Given the description of an element on the screen output the (x, y) to click on. 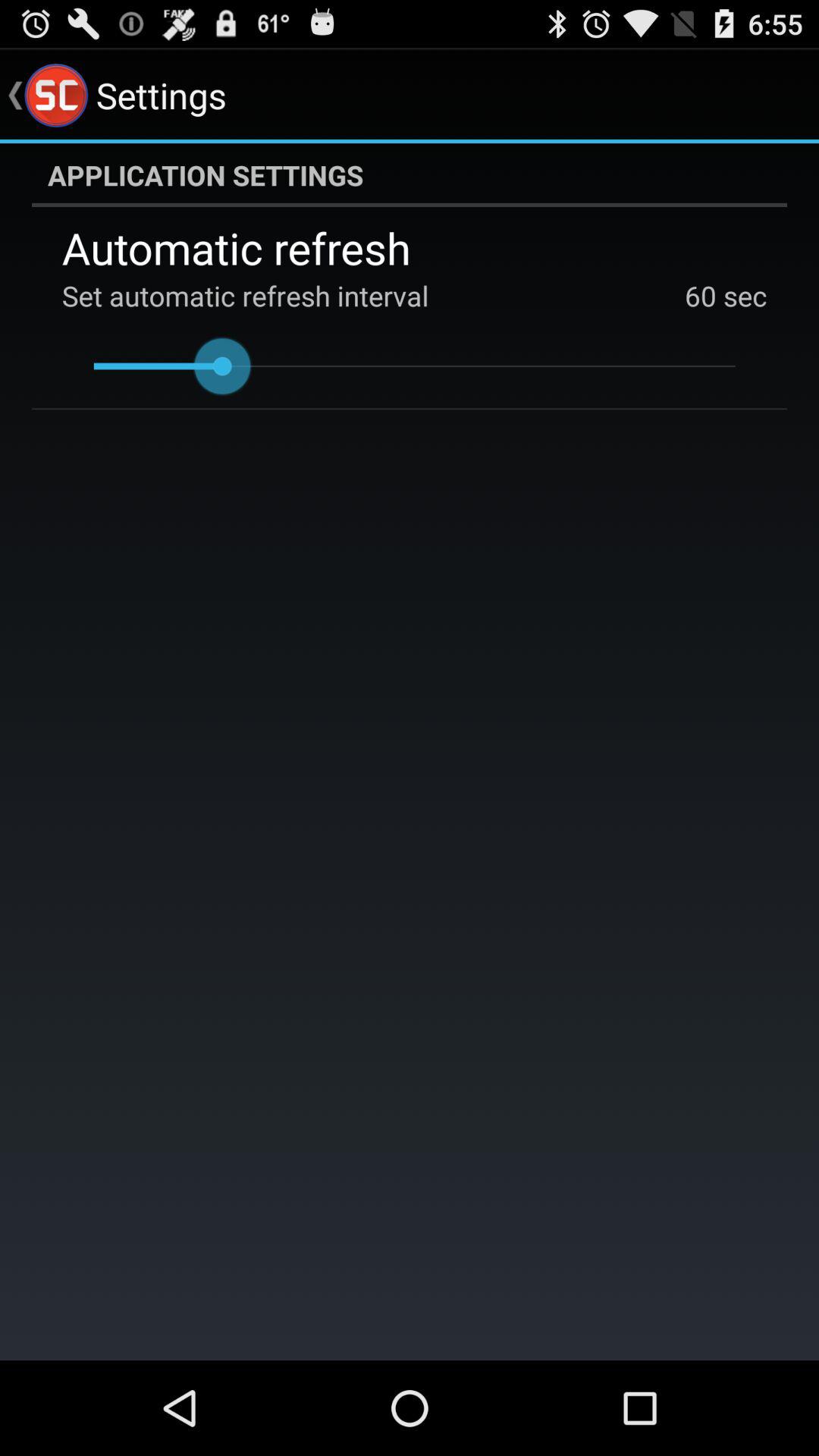
open the application settings app (409, 175)
